Given the description of an element on the screen output the (x, y) to click on. 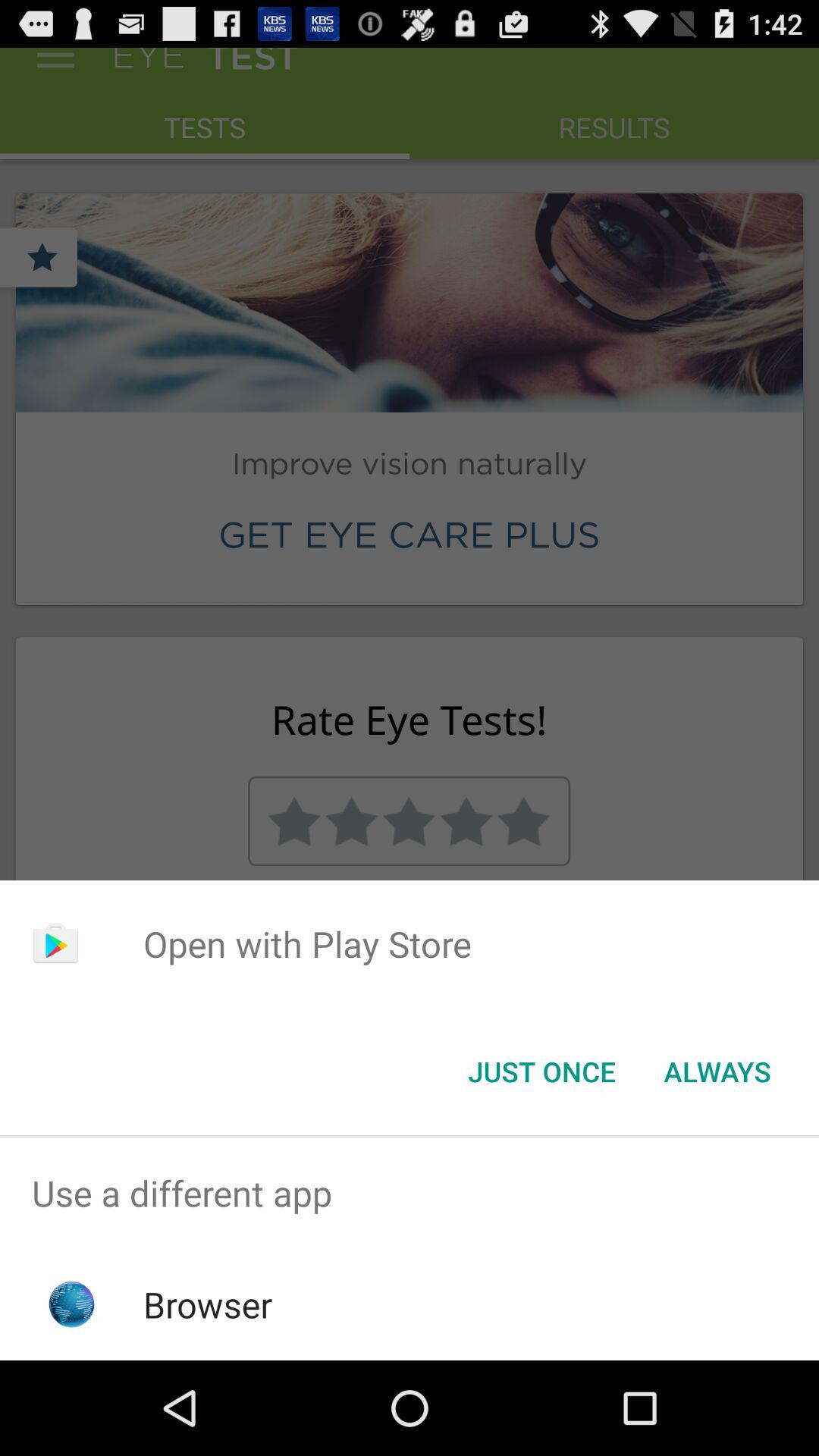
jump until the always item (717, 1071)
